Given the description of an element on the screen output the (x, y) to click on. 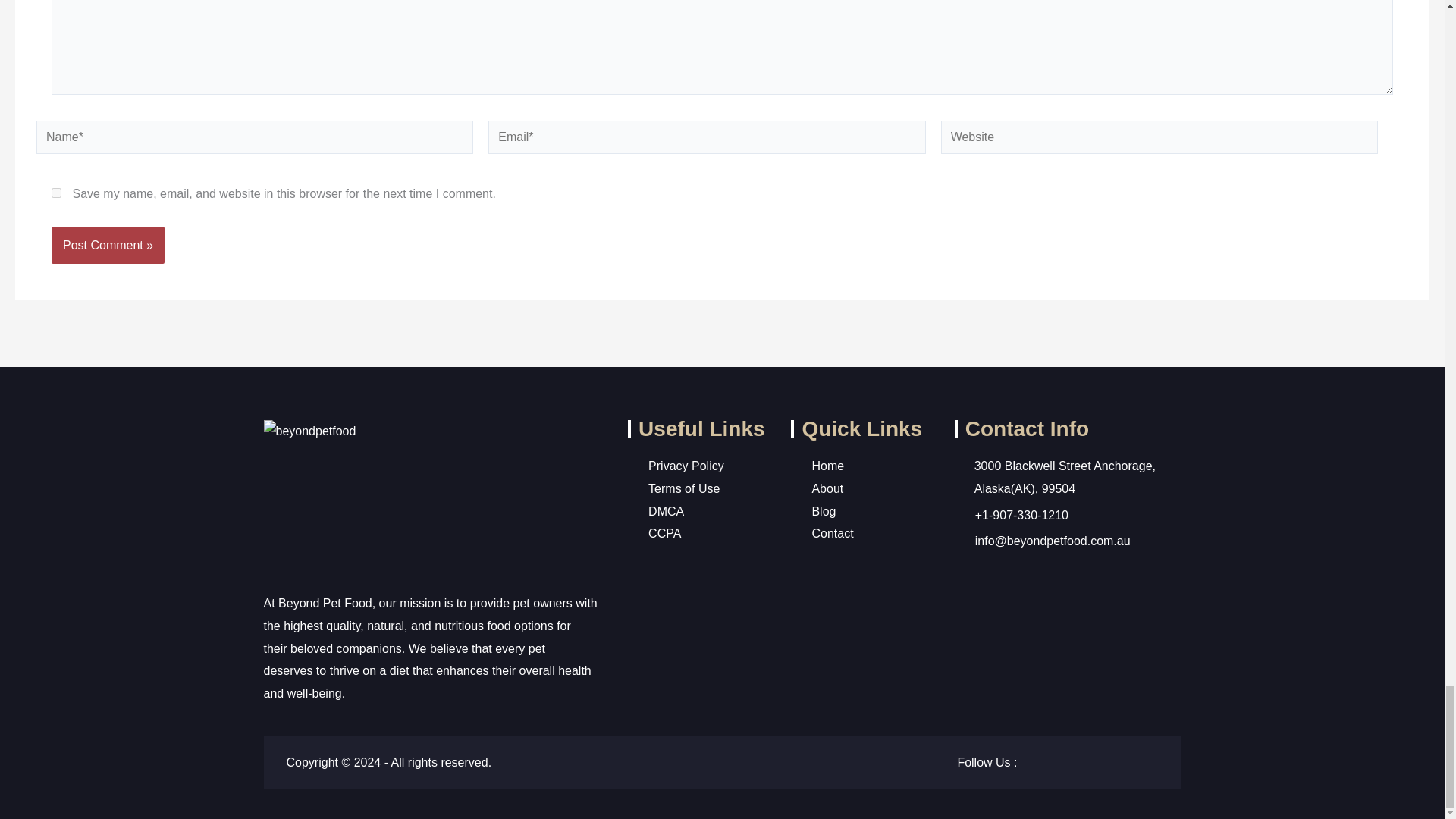
yes (55, 193)
